Given the description of an element on the screen output the (x, y) to click on. 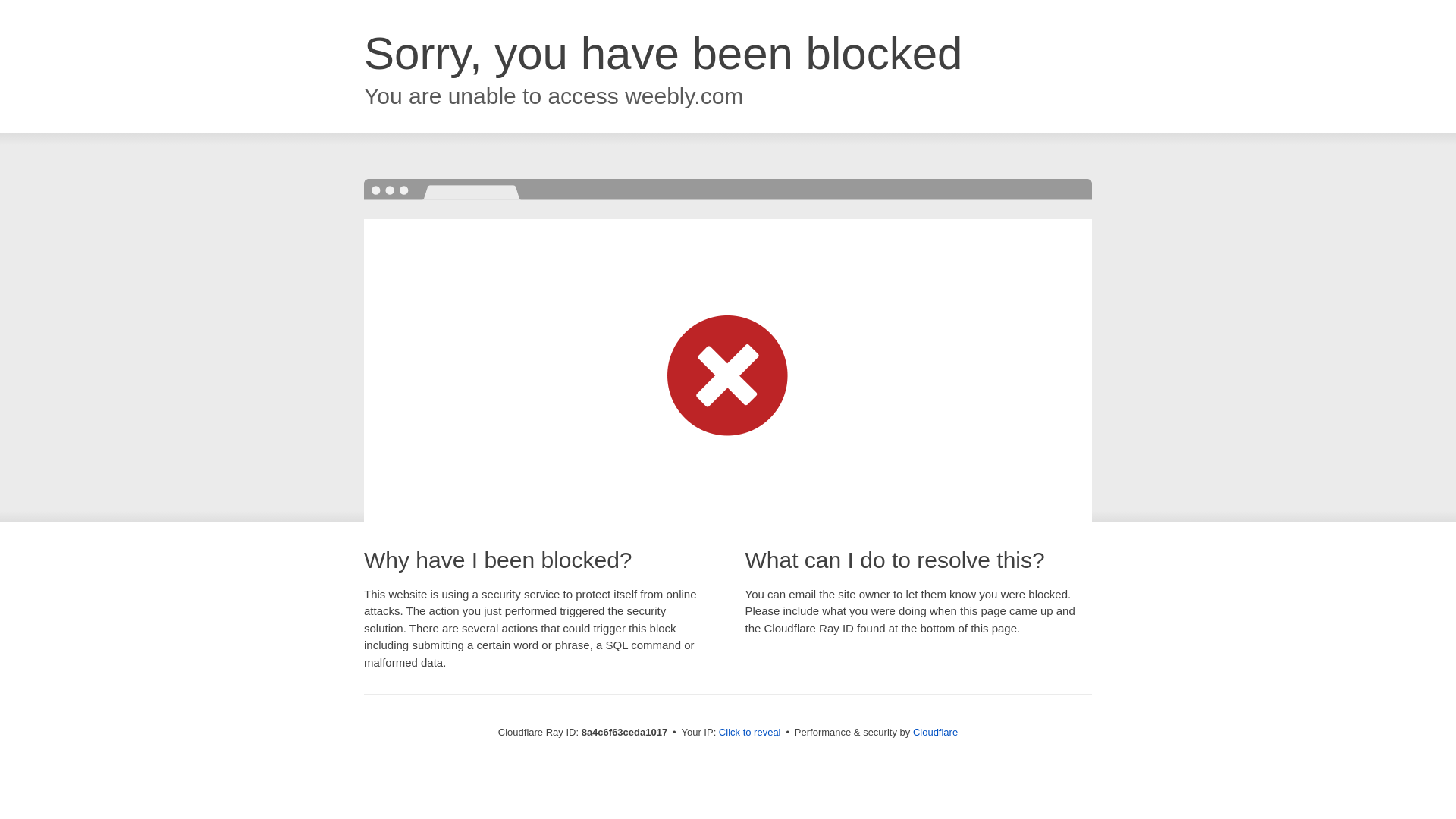
Cloudflare (935, 731)
Click to reveal (749, 732)
